Given the description of an element on the screen output the (x, y) to click on. 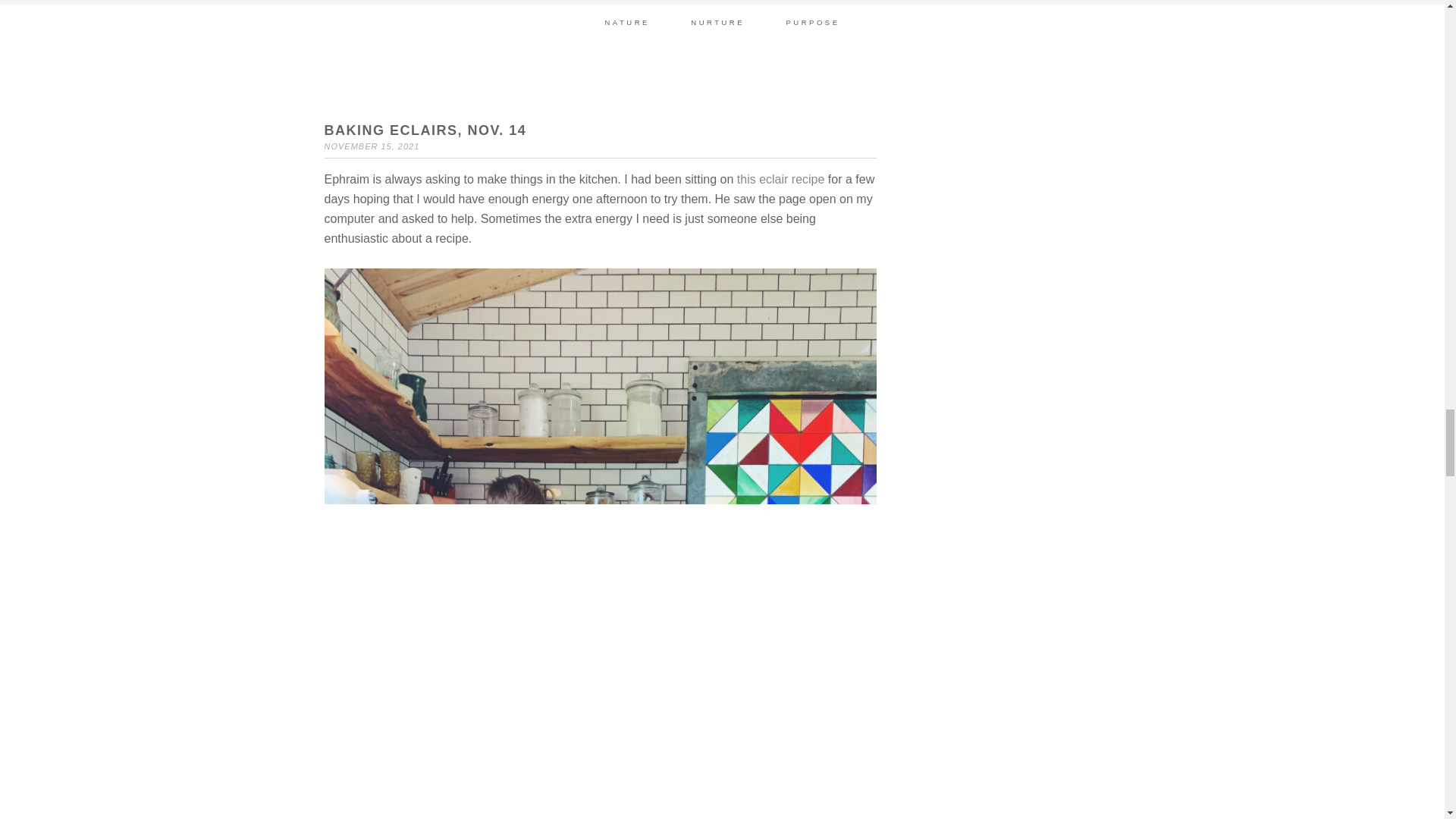
this eclair recipe (780, 178)
BAKING ECLAIRS, NOV. 14 (425, 130)
